Given the description of an element on the screen output the (x, y) to click on. 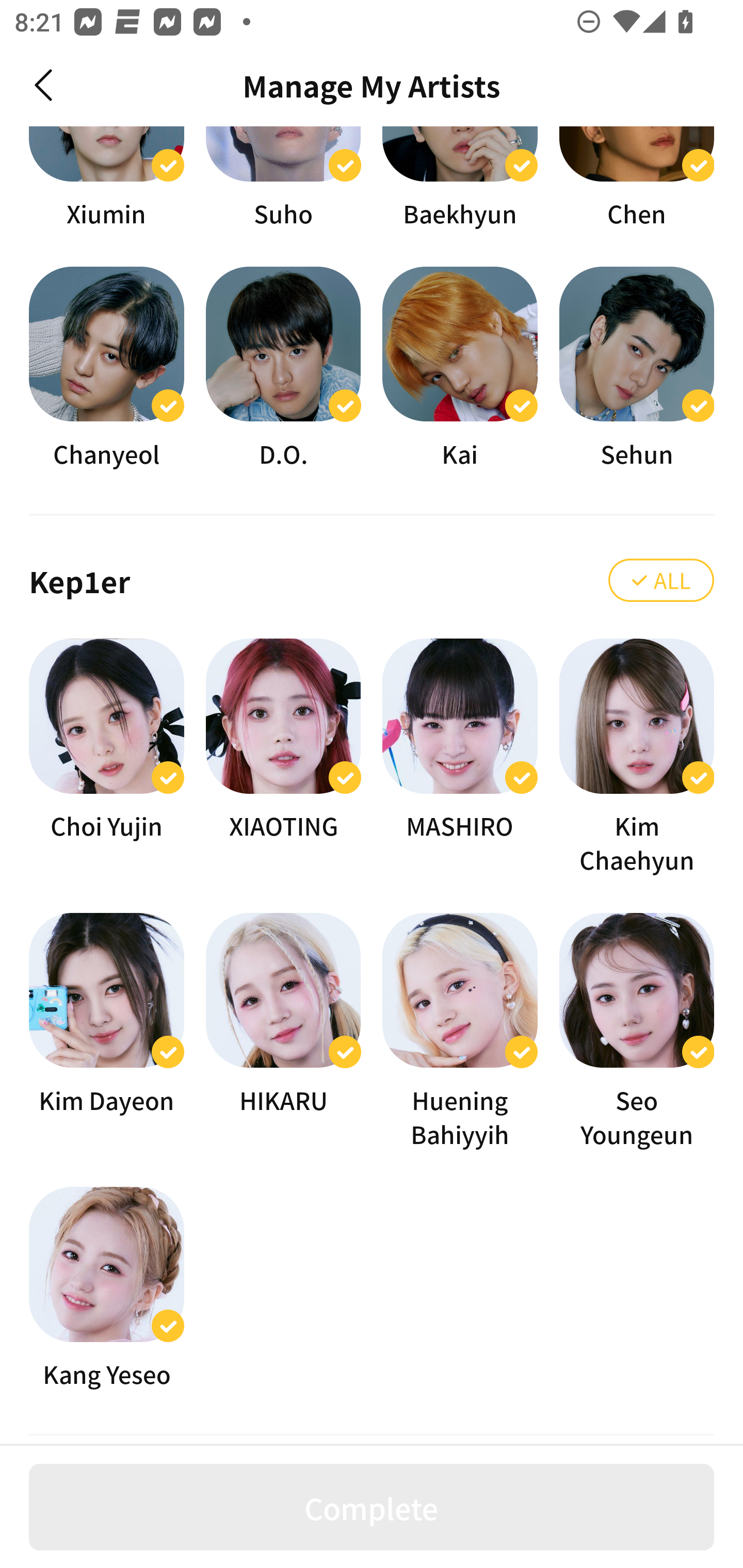
Xiumin (106, 178)
Suho (282, 178)
Baekhyun (459, 178)
Chen (636, 178)
Chanyeol (106, 368)
D.O. (282, 368)
Kai (459, 368)
Sehun (636, 368)
ALL (661, 580)
Choi Yujin (106, 757)
XIAOTING (282, 757)
MASHIRO (459, 757)
Kim Chaehyun (636, 757)
Kim Dayeon (106, 1031)
HIKARU (282, 1031)
Huening Bahiyyih (459, 1031)
Seo Youngeun (636, 1031)
Kang Yeseo (106, 1288)
Complete (371, 1507)
